Given the description of an element on the screen output the (x, y) to click on. 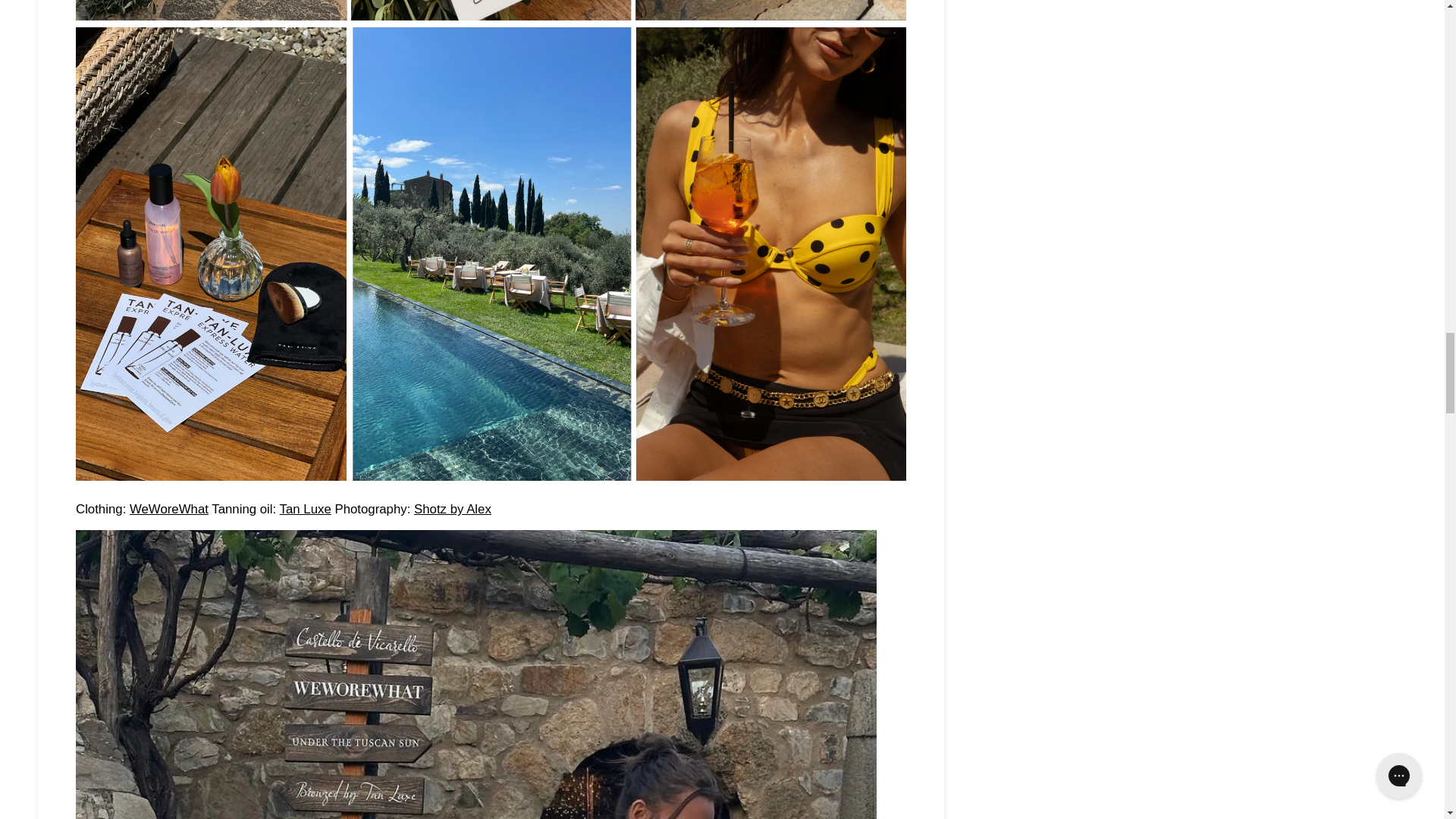
Shotz by Alex (452, 509)
WeWoreWhat Summer 23 Swim (168, 509)
tan luxe  (305, 509)
